Given the description of an element on the screen output the (x, y) to click on. 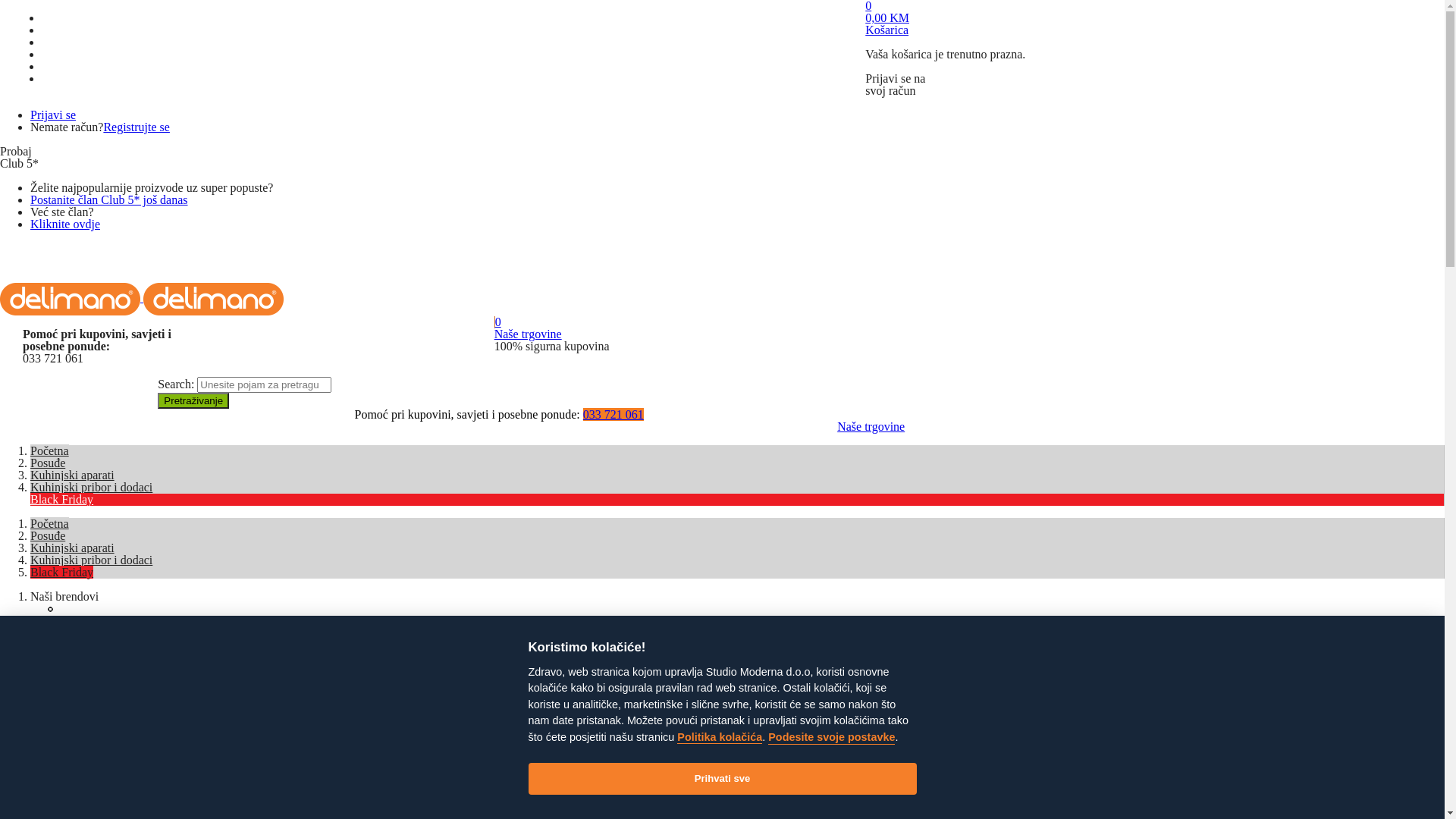
Probaj Club 5* Element type: text (97, 656)
Registrujte se Element type: text (93, 644)
Black Friday Element type: text (61, 498)
Black Friday Element type: text (61, 571)
Kuhinjski aparati Element type: text (72, 547)
Kuhinjski pribor i dodaci Element type: text (91, 486)
Podesite svoje postavke Element type: text (831, 737)
Kliknite ovdje Element type: text (65, 223)
Prijavi se Element type: text (83, 632)
0 Element type: text (620, 322)
Kuhinjski aparati Element type: text (72, 474)
Prihvati sve Element type: text (721, 778)
Prijavi se Element type: text (52, 114)
Kuhinjski pribor i dodaci Element type: text (91, 559)
Registrujte se Element type: text (136, 126)
033 721 061 Element type: text (613, 413)
